Given the description of an element on the screen output the (x, y) to click on. 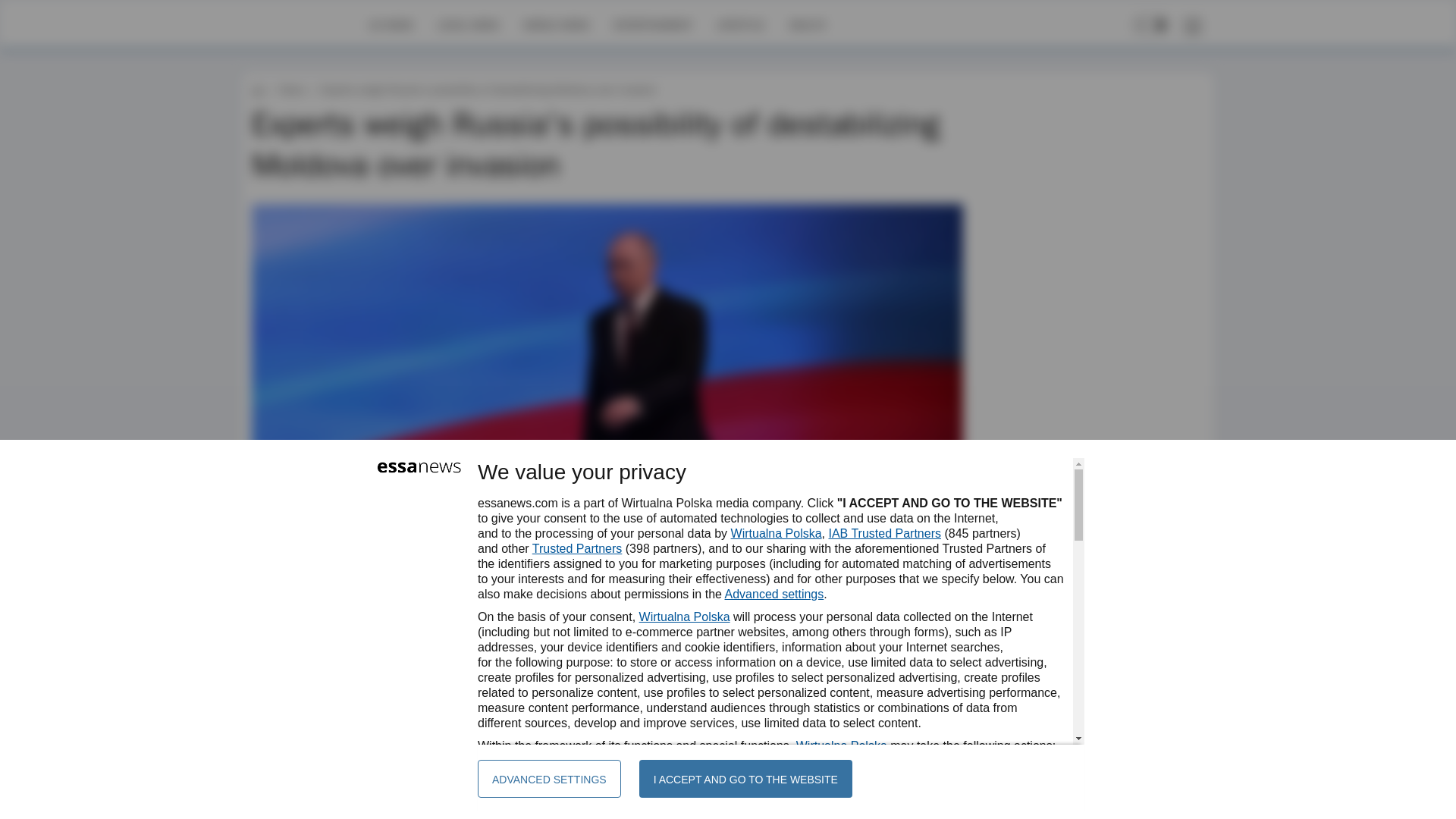
HEALTH (807, 24)
US NEWS (390, 24)
RST (298, 641)
Homepage (305, 24)
LOCAL NEWS (468, 24)
WORLD NEWS (555, 24)
LIFESTYLE (740, 24)
SHARE (936, 649)
RST (298, 641)
News (291, 89)
News (291, 89)
essanews.com (257, 89)
ENTERTAINMENT (652, 24)
